Given the description of an element on the screen output the (x, y) to click on. 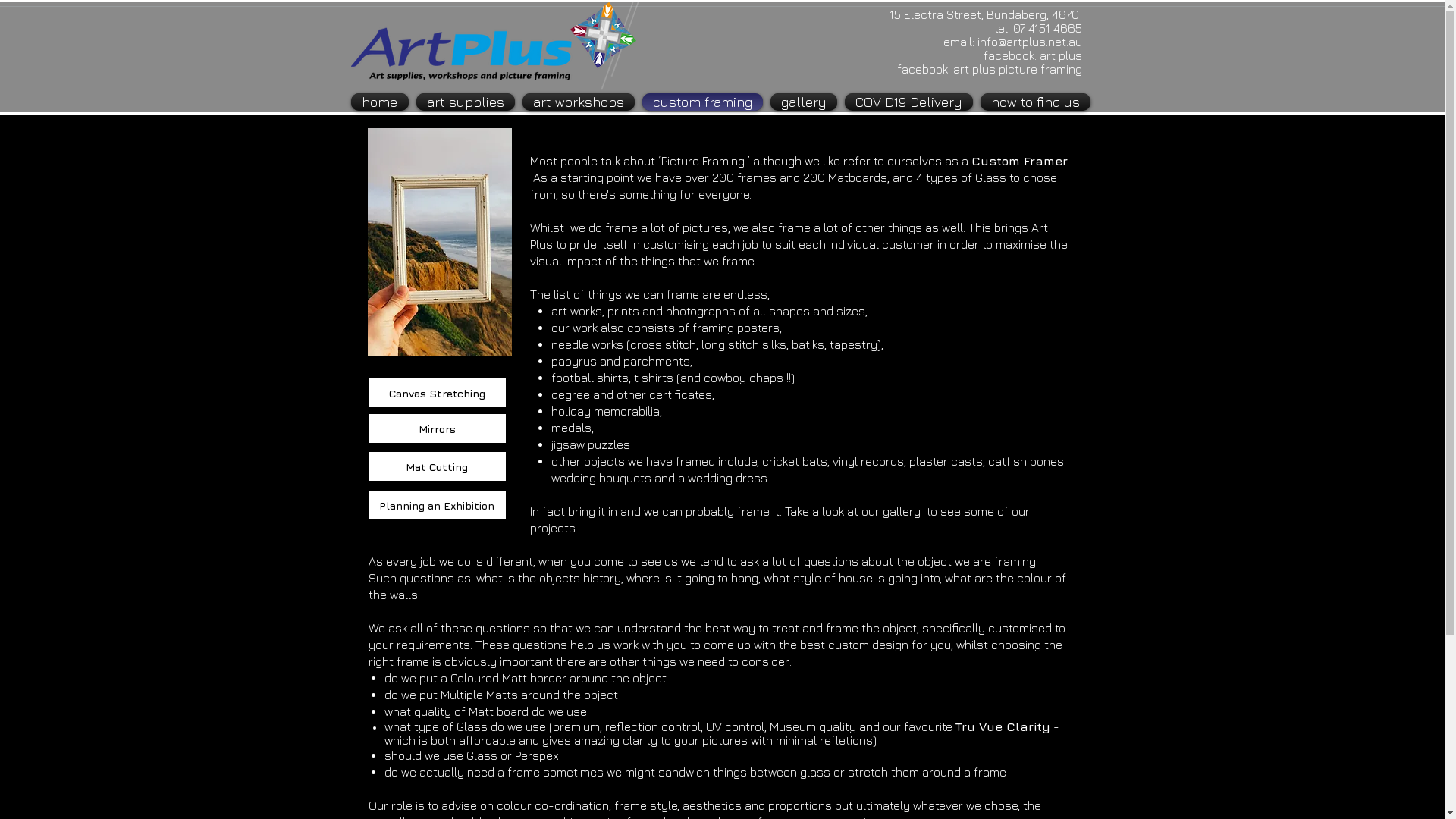
gallery Element type: text (802, 101)
art workshops Element type: text (578, 101)
Mirrors Element type: text (436, 428)
how to find us Element type: text (1033, 101)
Planning an Exhibition Element type: text (436, 504)
home Element type: text (380, 101)
Canvas Stretching Element type: text (436, 392)
Mat Cutting Element type: text (436, 466)
COVID19 Delivery Element type: text (907, 101)
art supplies Element type: text (465, 101)
info@artplus.net.au Element type: text (1028, 41)
custom framing Element type: text (702, 101)
